Given the description of an element on the screen output the (x, y) to click on. 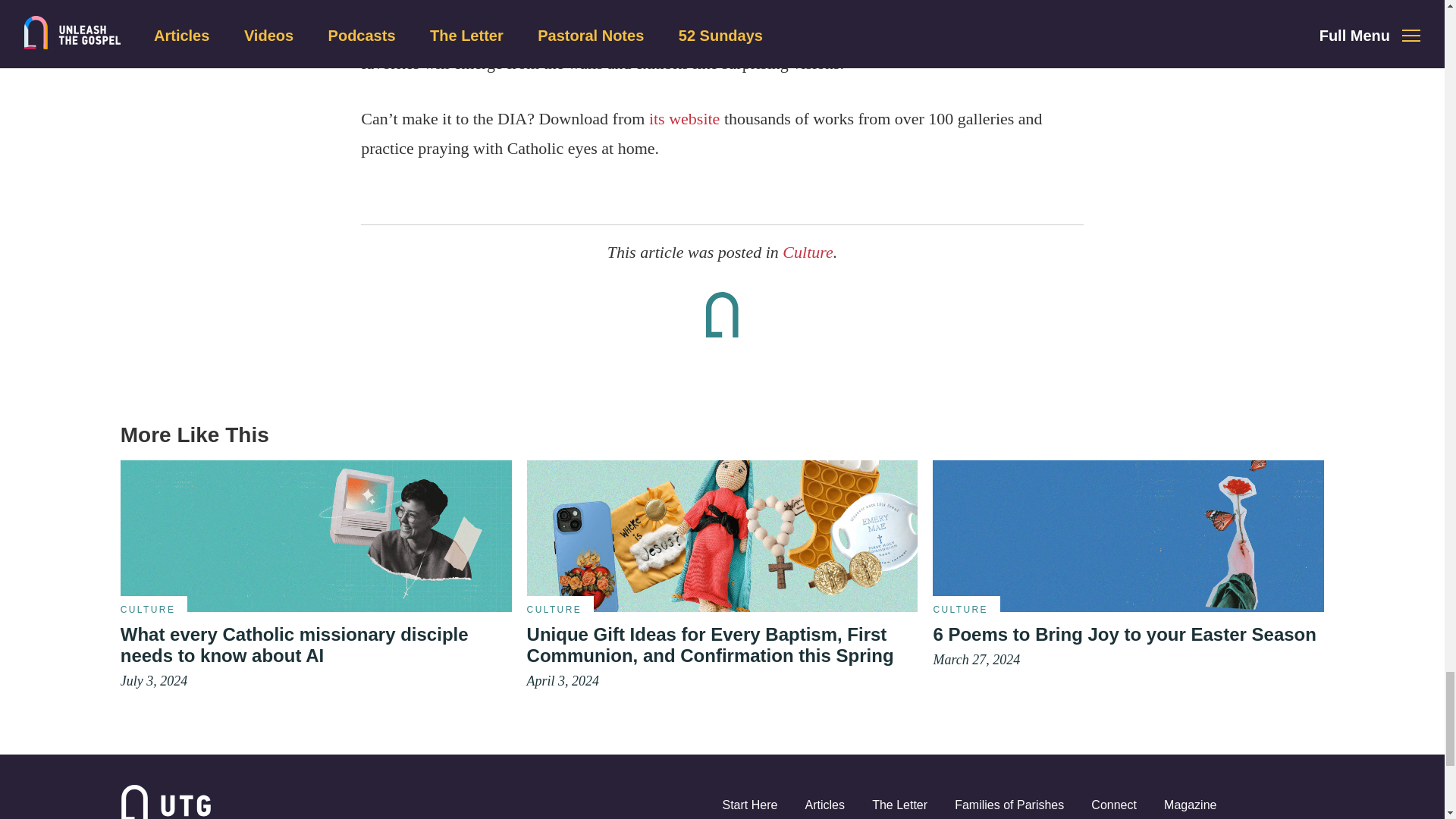
WP (722, 535)
